Given the description of an element on the screen output the (x, y) to click on. 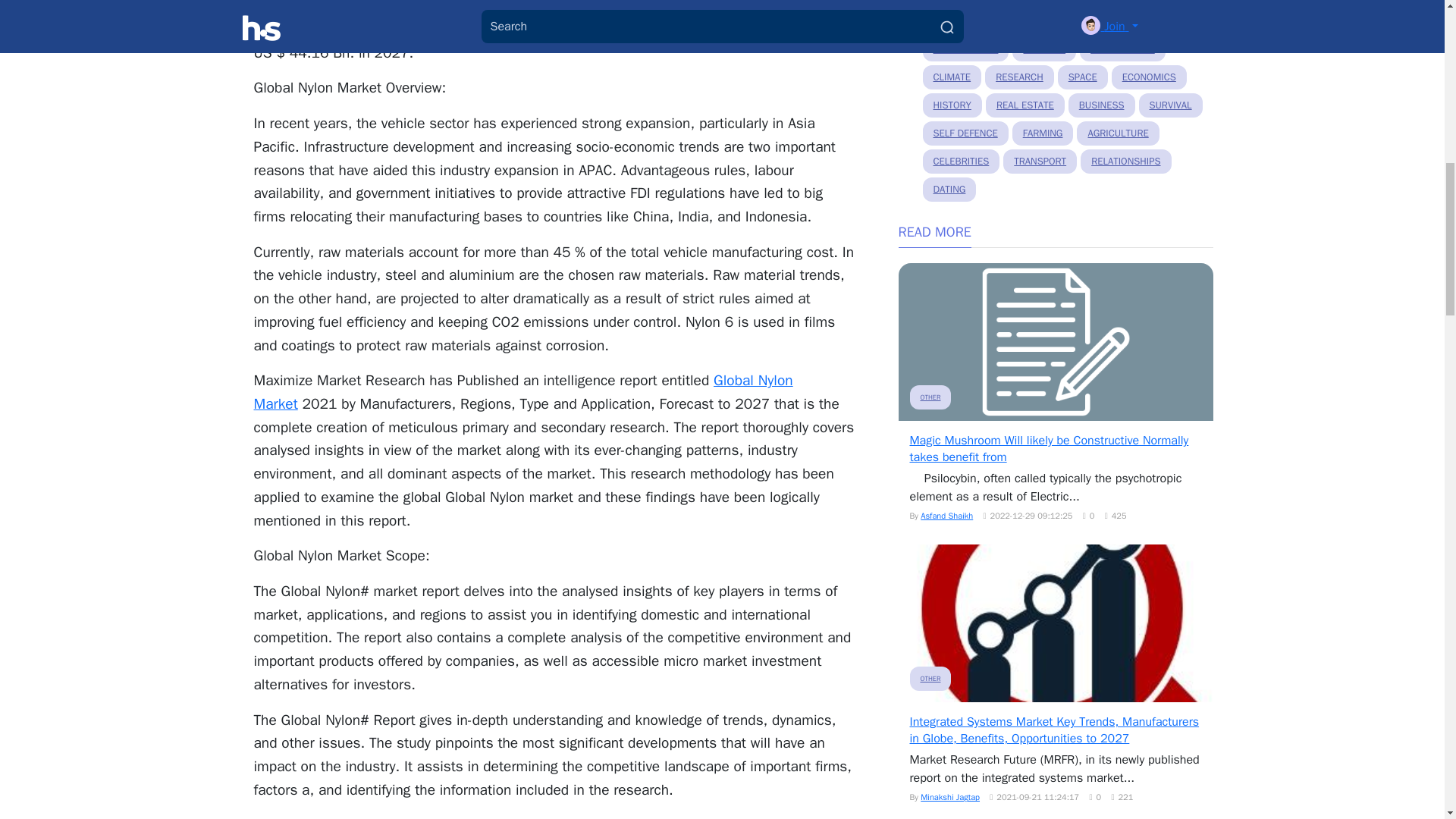
Global Nylon Market (522, 392)
